Given the description of an element on the screen output the (x, y) to click on. 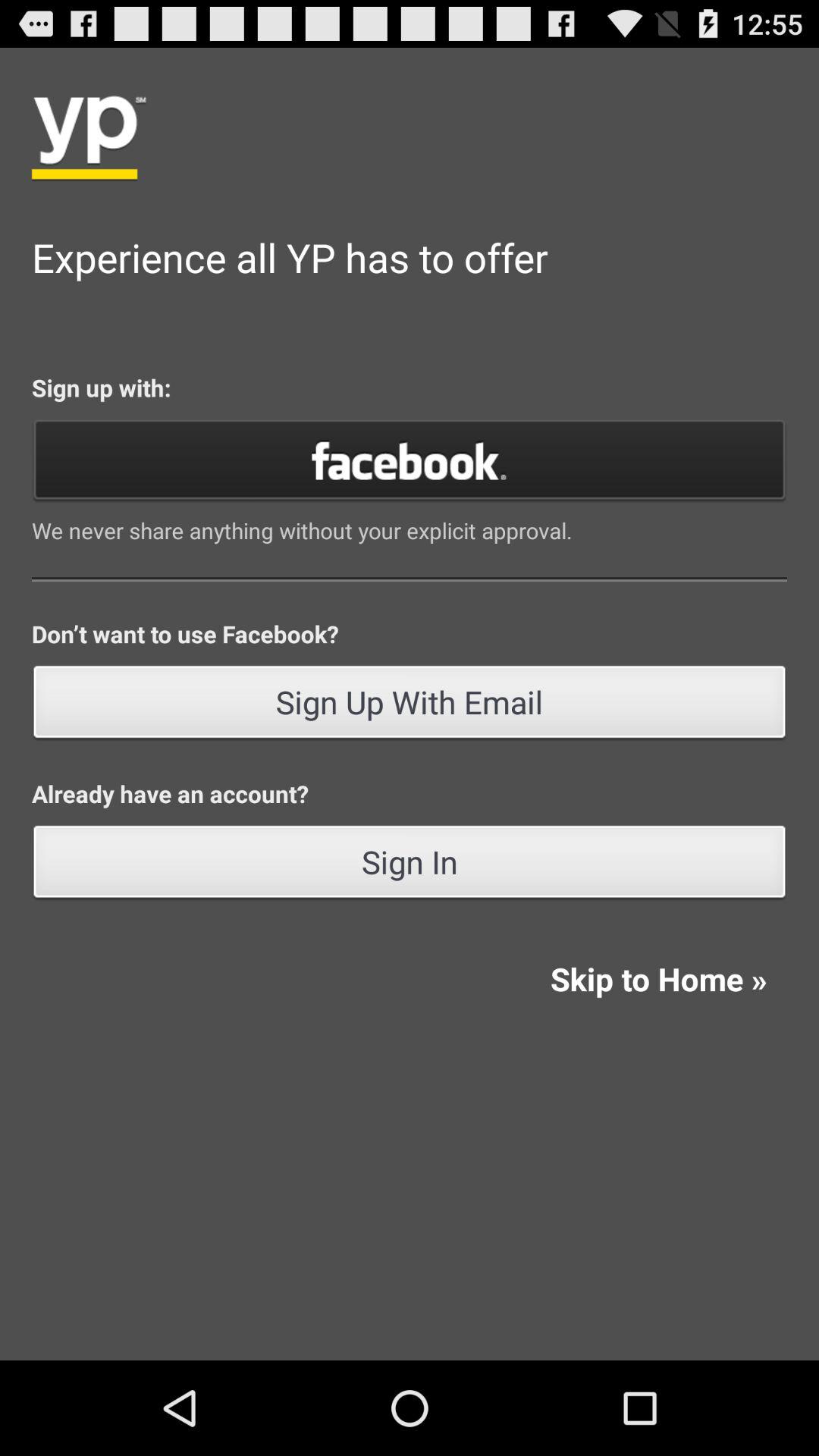
click on facebook button (409, 459)
